Given the description of an element on the screen output the (x, y) to click on. 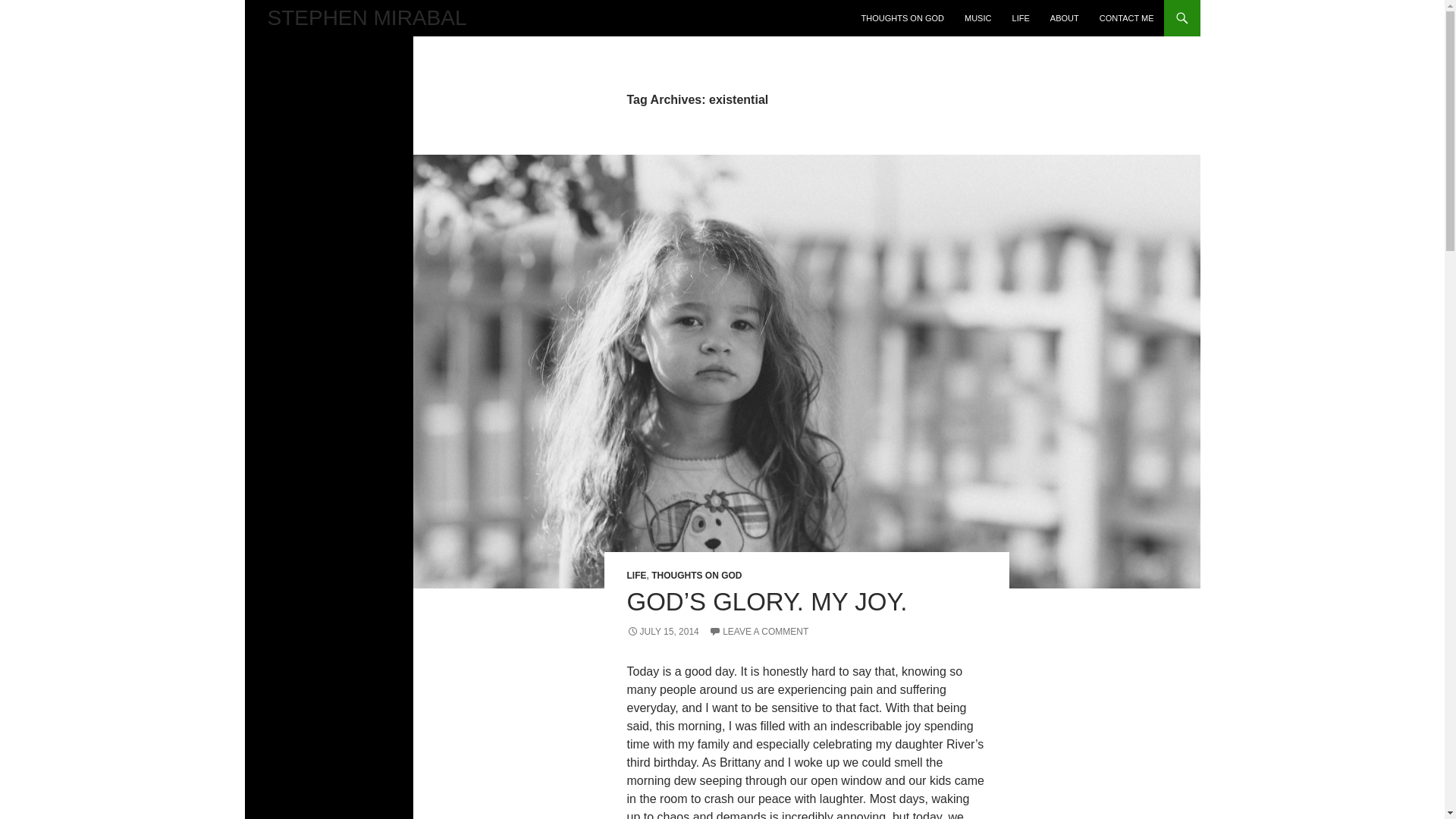
THOUGHTS ON GOD (902, 18)
LEAVE A COMMENT (758, 631)
MUSIC (977, 18)
ABOUT (1064, 18)
STEPHEN MIRABAL (365, 18)
JULY 15, 2014 (662, 631)
LIFE (1021, 18)
LIFE (636, 575)
THOUGHTS ON GOD (695, 575)
CONTACT ME (1126, 18)
